Given the description of an element on the screen output the (x, y) to click on. 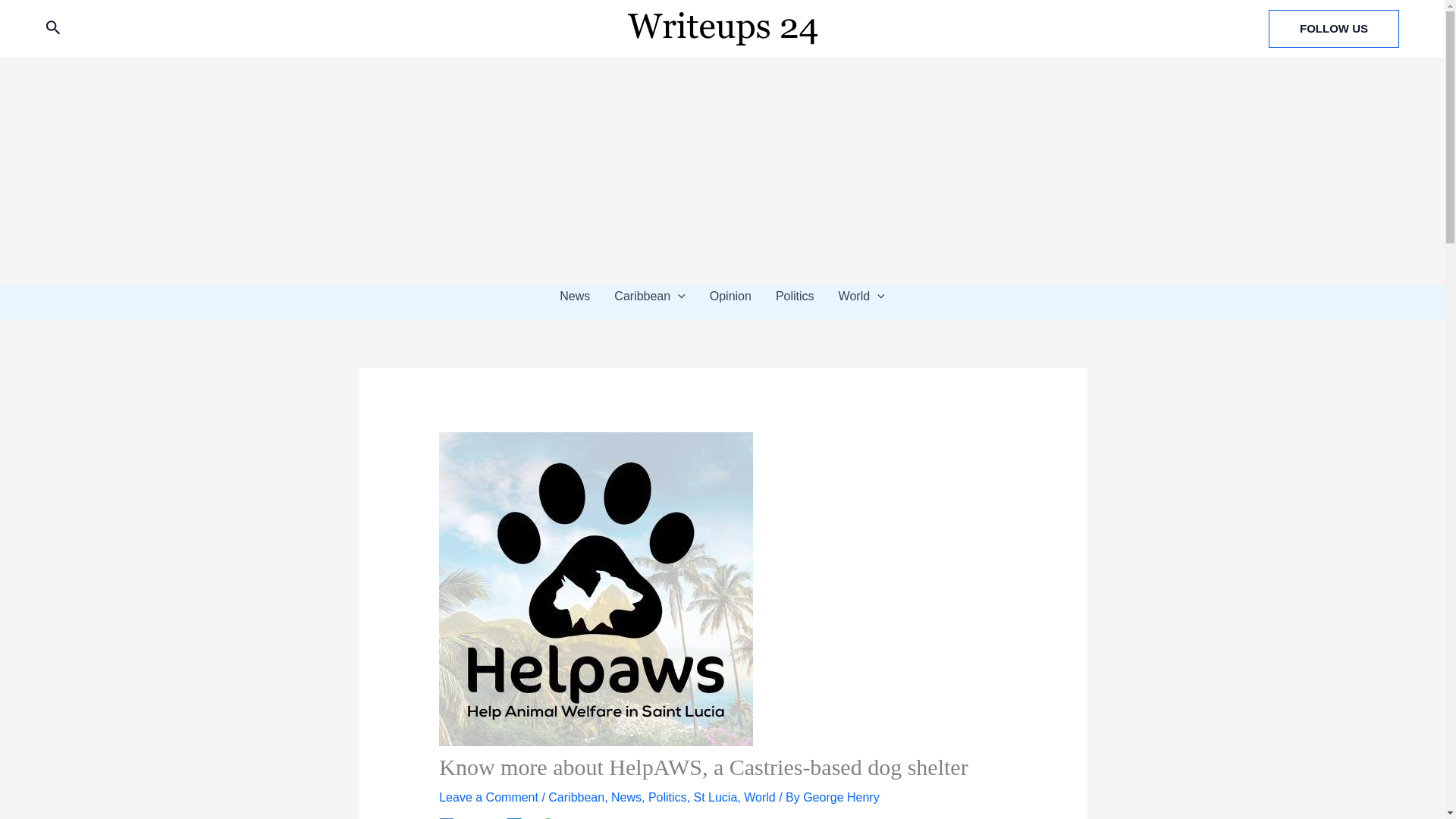
FOLLOW US (1333, 28)
Caribbean (649, 296)
Leave a Comment (488, 797)
News (574, 296)
World (861, 296)
Politics (794, 296)
World (760, 797)
Politics (667, 797)
Caribbean (576, 797)
